Given the description of an element on the screen output the (x, y) to click on. 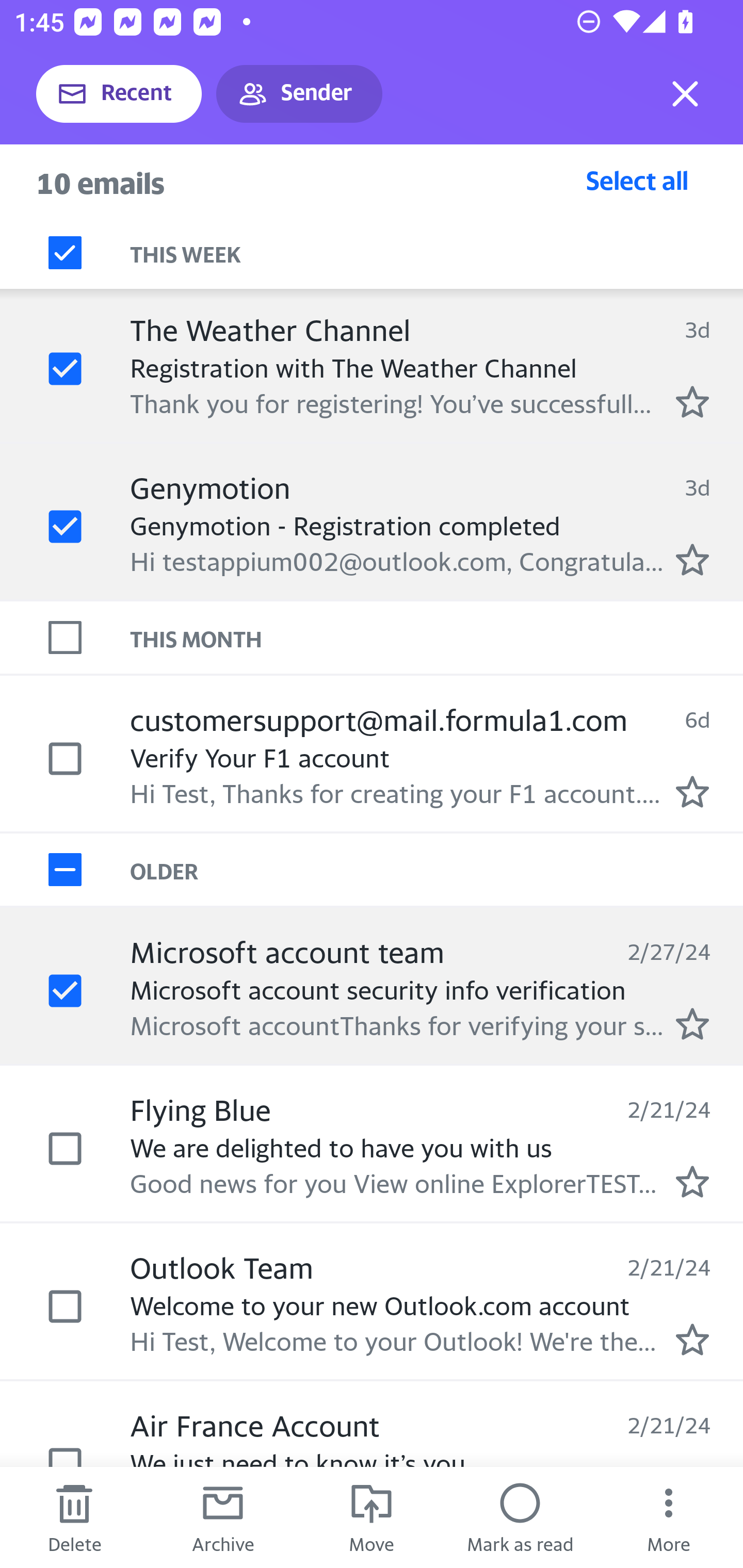
Sender (299, 93)
Exit selection mode (684, 93)
Select all (637, 180)
Mark as starred. (692, 402)
Mark as starred. (692, 558)
THIS MONTH (436, 637)
Mark as starred. (692, 791)
OLDER (436, 869)
Mark as starred. (692, 1023)
Mark as starred. (692, 1181)
Mark as starred. (692, 1339)
Delete (74, 1517)
Archive (222, 1517)
Move (371, 1517)
Mark as read (519, 1517)
More (668, 1517)
